Given the description of an element on the screen output the (x, y) to click on. 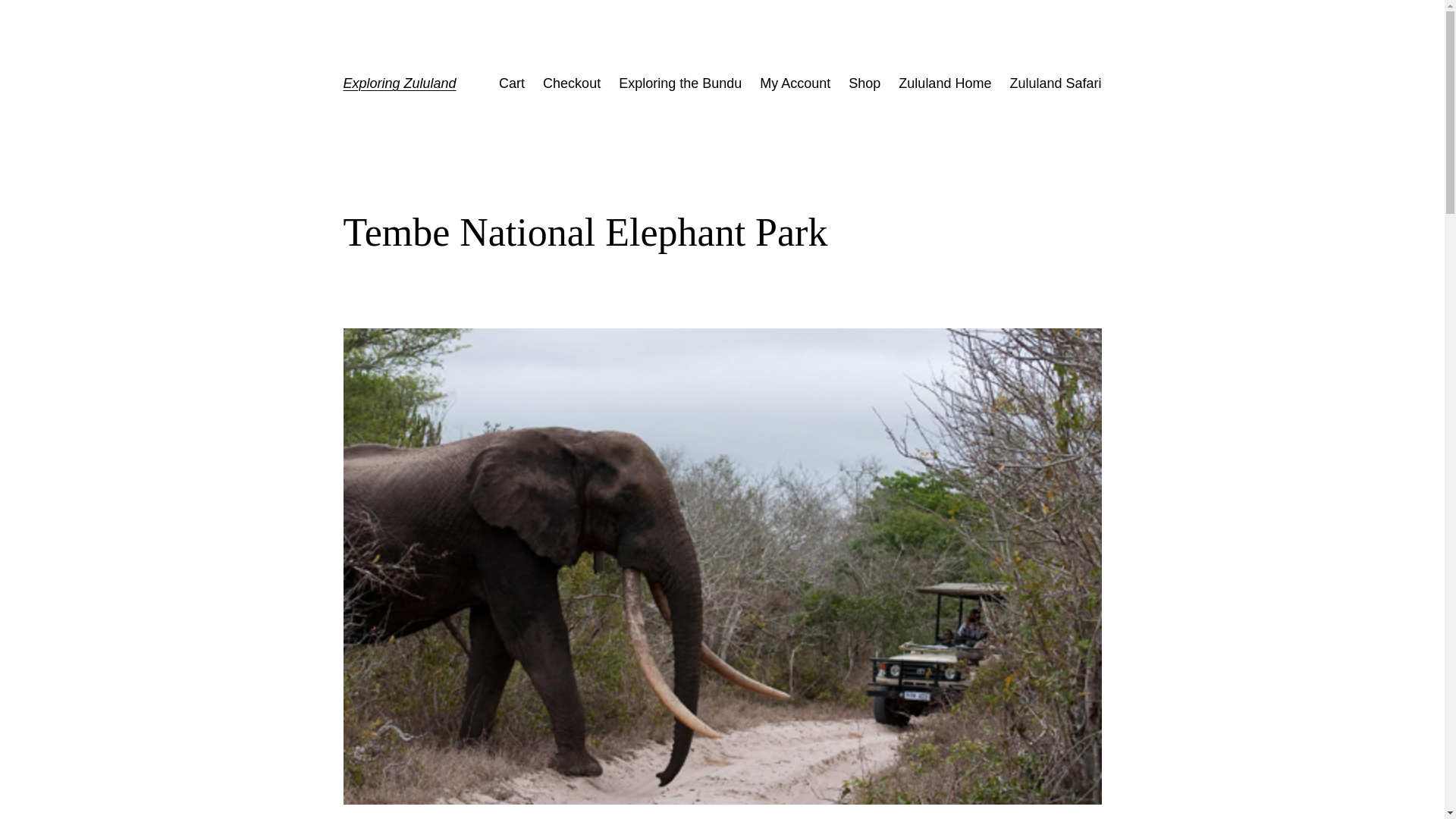
Checkout (571, 83)
Shop (864, 83)
Zululand Home (944, 83)
Zululand Safari (1054, 83)
Exploring Zululand (398, 83)
Cart (511, 83)
My Account (794, 83)
Exploring the Bundu (679, 83)
